Given the description of an element on the screen output the (x, y) to click on. 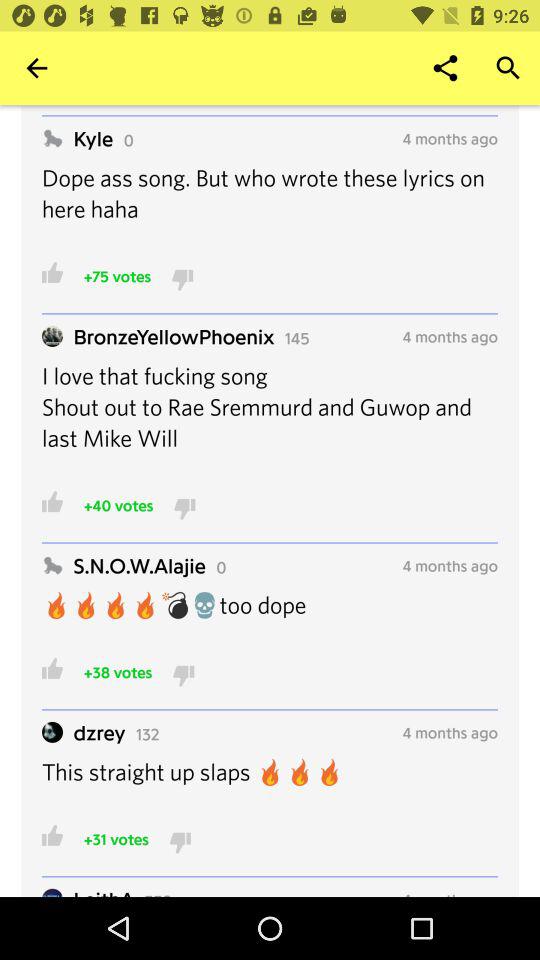
click the item below dzrey (270, 784)
